Given the description of an element on the screen output the (x, y) to click on. 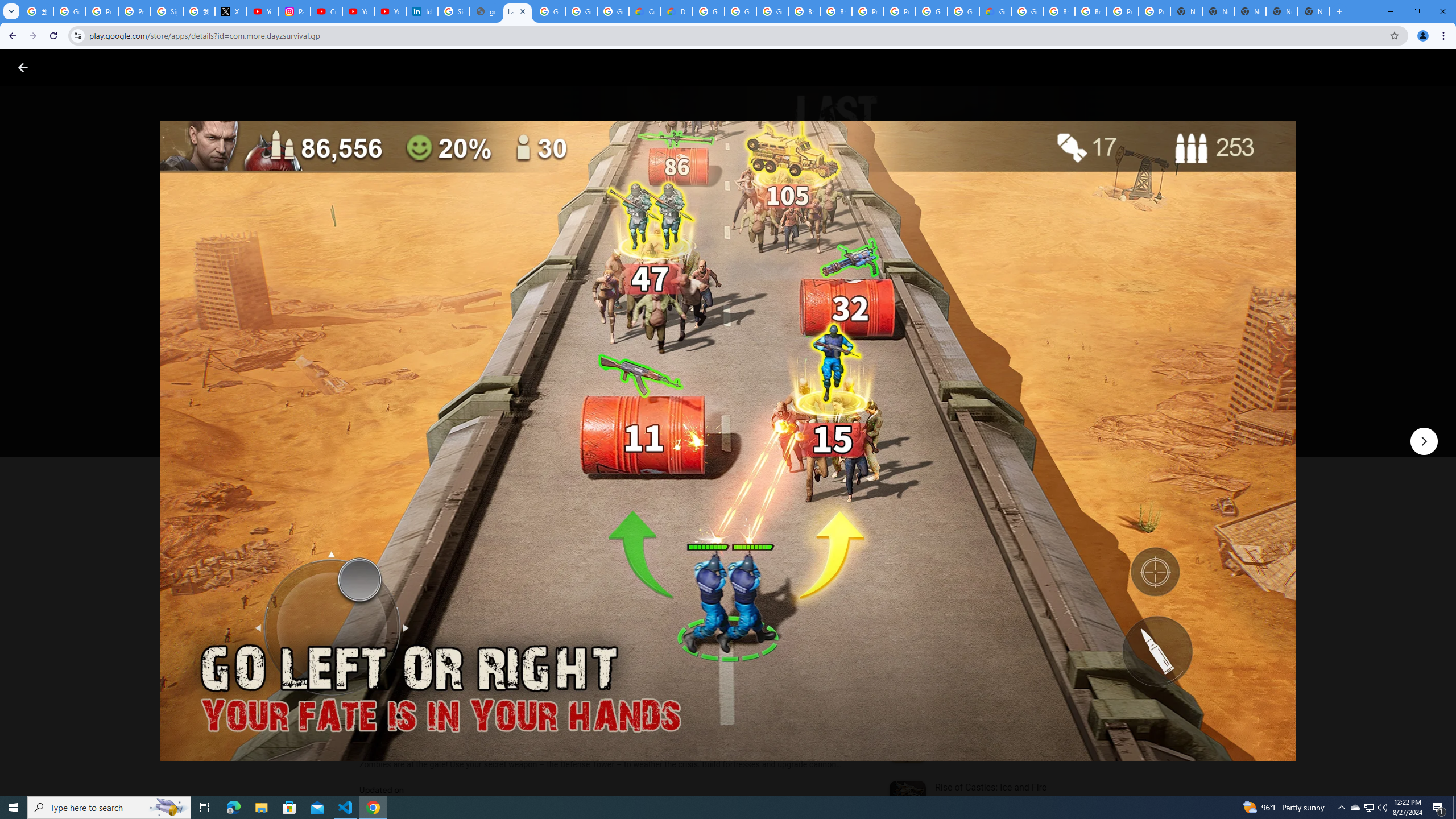
Expand (978, 497)
YouTube Culture & Trends - YouTube Top 10, 2021 (389, 11)
Google Cloud Platform (931, 11)
See more information on Similar games (986, 539)
Open account menu (1436, 67)
Content rating (553, 373)
